Given the description of an element on the screen output the (x, y) to click on. 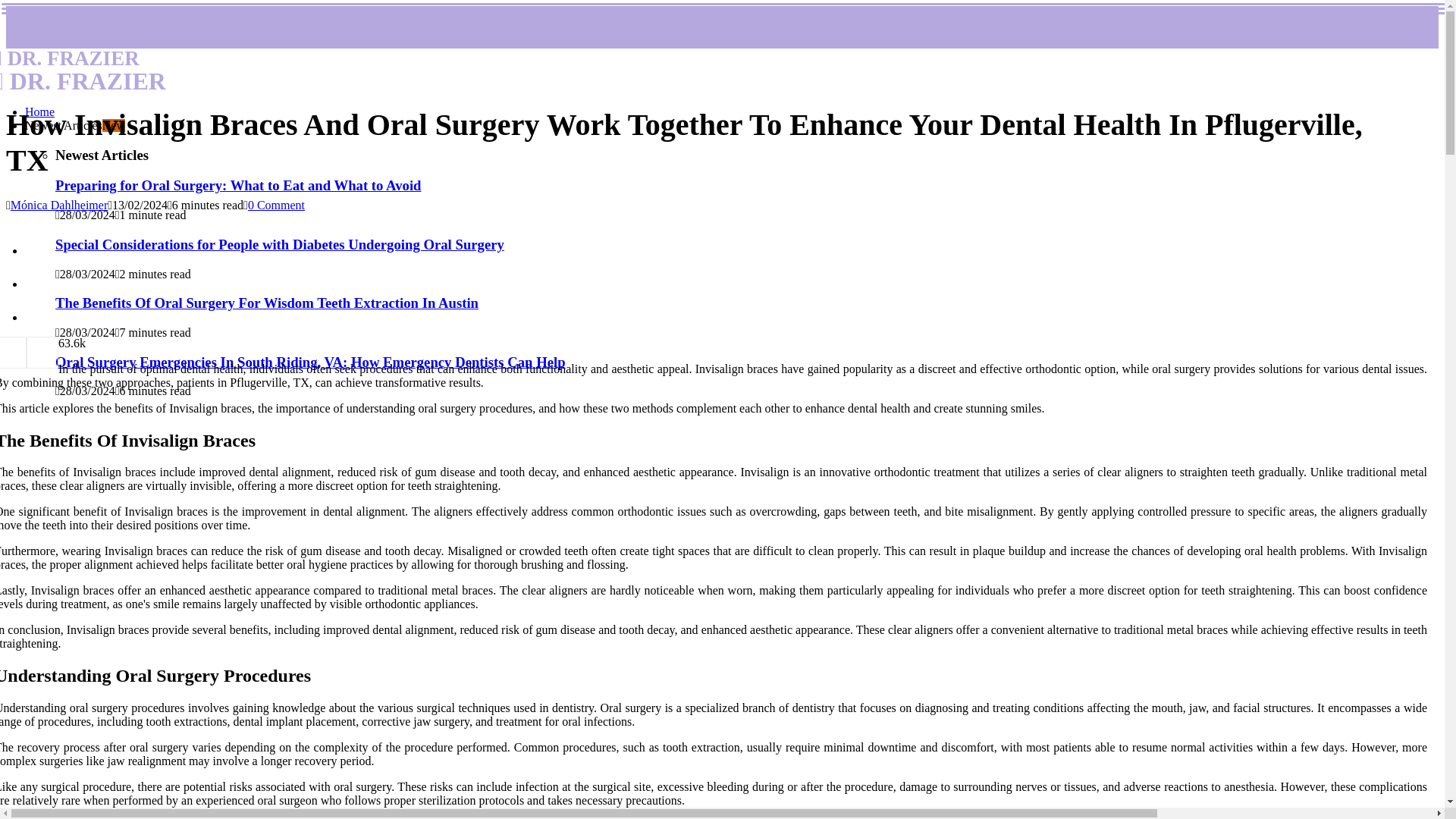
0 Comment (283, 70)
Newest ArticlesNew (275, 205)
Preparing for Oral Surgery: What to Eat and What to Avoid (74, 124)
Home (237, 185)
